Given the description of an element on the screen output the (x, y) to click on. 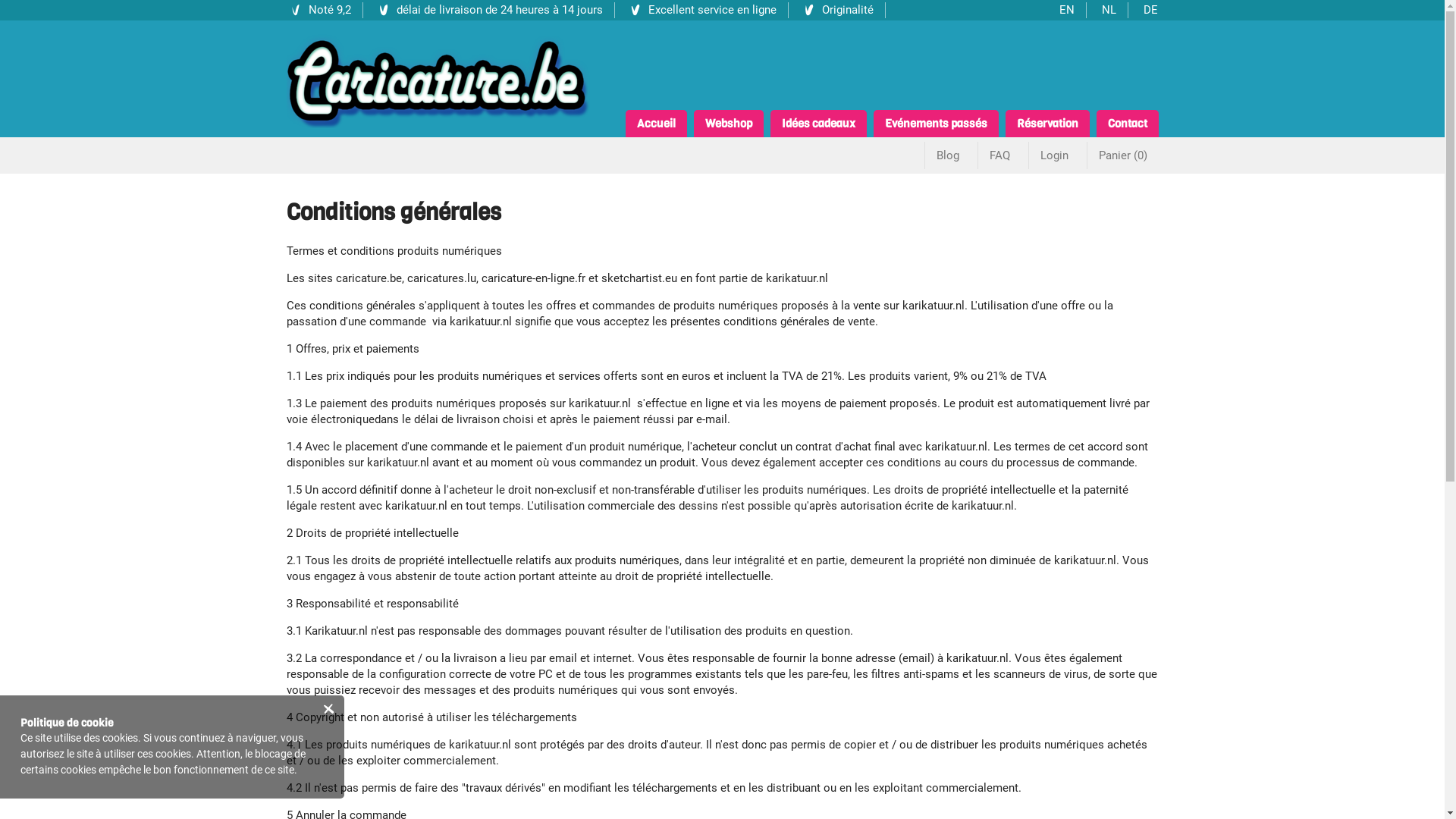
Accueil Element type: text (655, 123)
EN Element type: text (1065, 10)
Login Element type: text (1053, 155)
Contact Element type: text (1127, 123)
Webshop Element type: text (727, 123)
Blog Element type: text (947, 155)
Panier (0) Element type: text (1122, 155)
Karikatuur Element type: hover (437, 79)
FAQ Element type: text (999, 155)
NL Element type: text (1108, 10)
DE Element type: text (1150, 10)
